Given the description of an element on the screen output the (x, y) to click on. 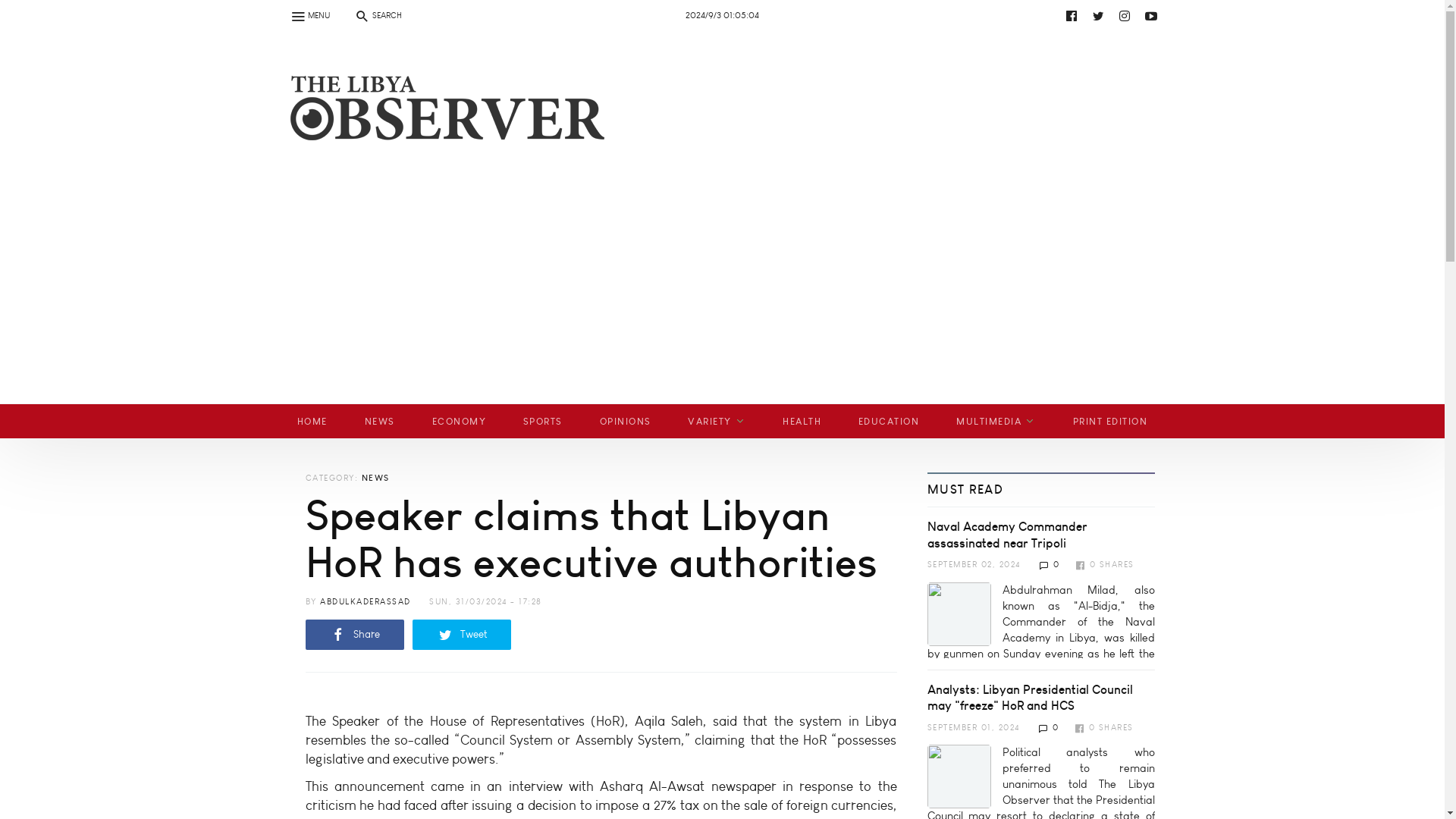
MULTIMEDIA (995, 421)
EDUCATION (888, 421)
VARIETY (716, 421)
twitter (1097, 14)
youtube (736, 14)
NEWS (379, 421)
SPORTS (541, 421)
SEARCH (377, 15)
youtube (1150, 14)
HOME (312, 421)
